Given the description of an element on the screen output the (x, y) to click on. 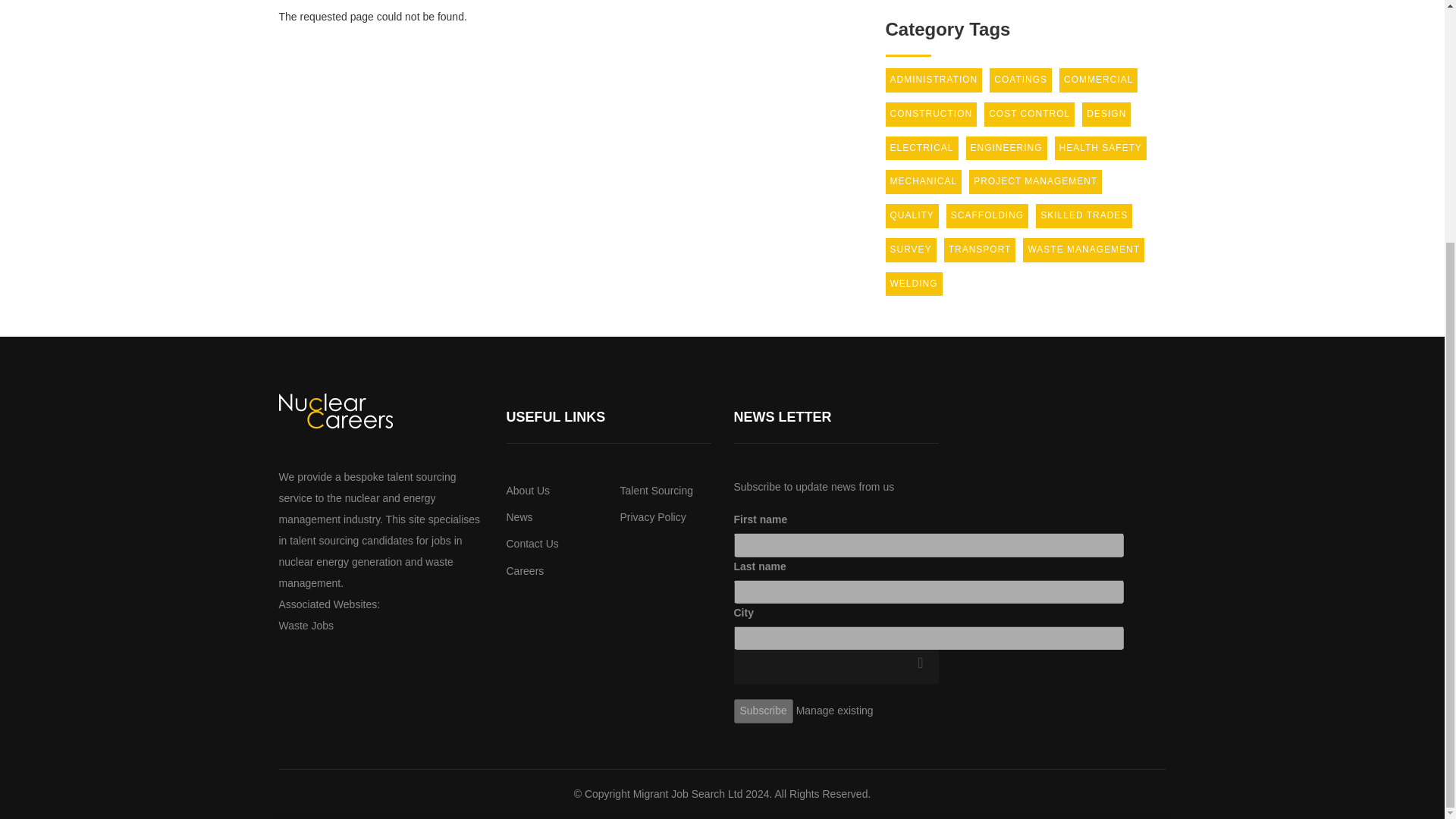
DESIGN (1106, 114)
HEALTH SAFETY (1100, 148)
ENGINEERING (1006, 148)
MECHANICAL (923, 181)
News (519, 517)
ELECTRICAL (921, 148)
Waste Jobs (306, 625)
COATINGS (1020, 79)
QUALITY (912, 215)
COST CONTROL (1029, 114)
TRANSPORT (979, 250)
Careers (525, 571)
About Us (528, 490)
WELDING (913, 283)
Contact Us (532, 543)
